Given the description of an element on the screen output the (x, y) to click on. 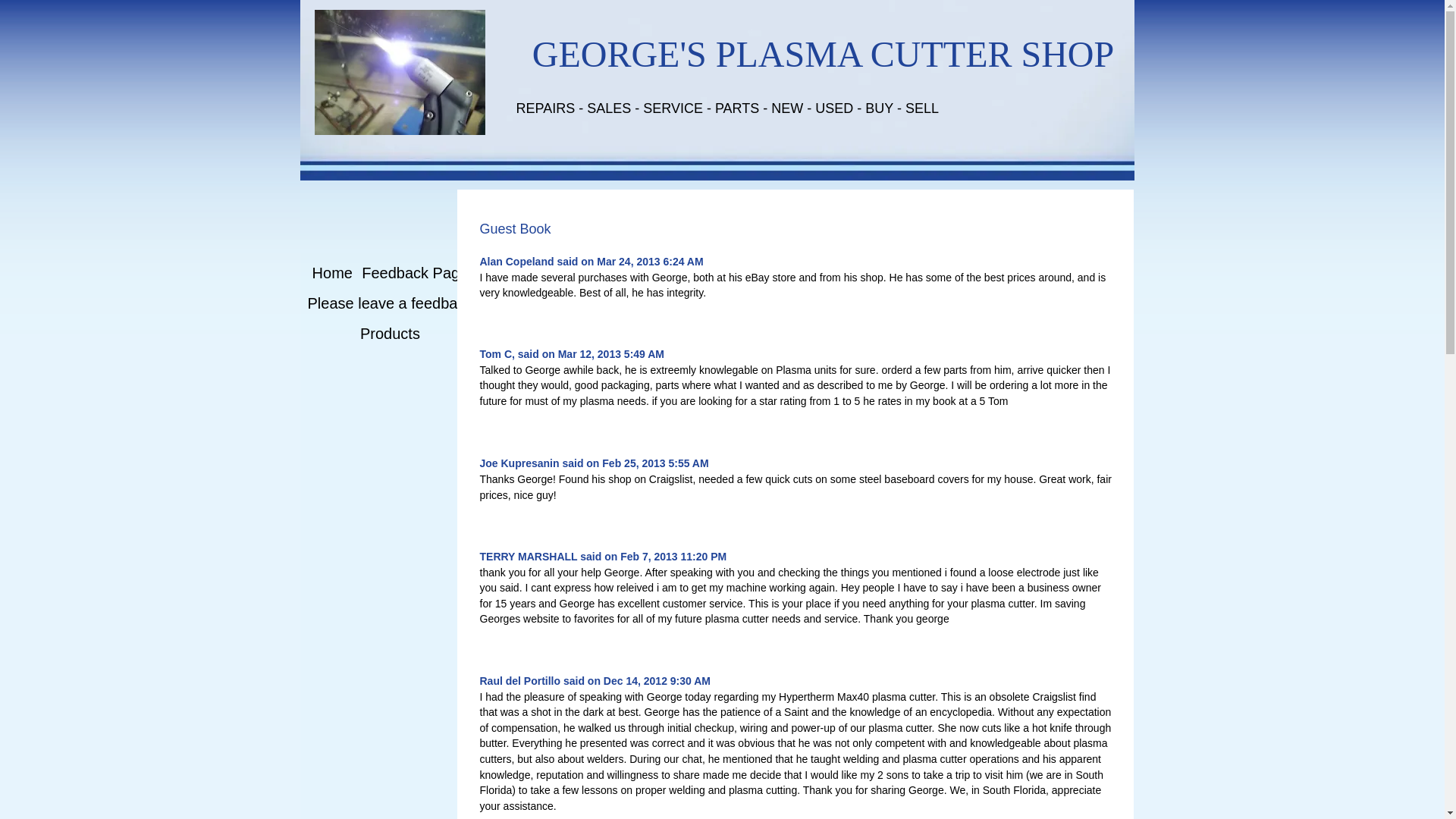
Please leave a feedback (390, 303)
Feedback Page (413, 272)
Products (390, 333)
Home (332, 272)
